Given the description of an element on the screen output the (x, y) to click on. 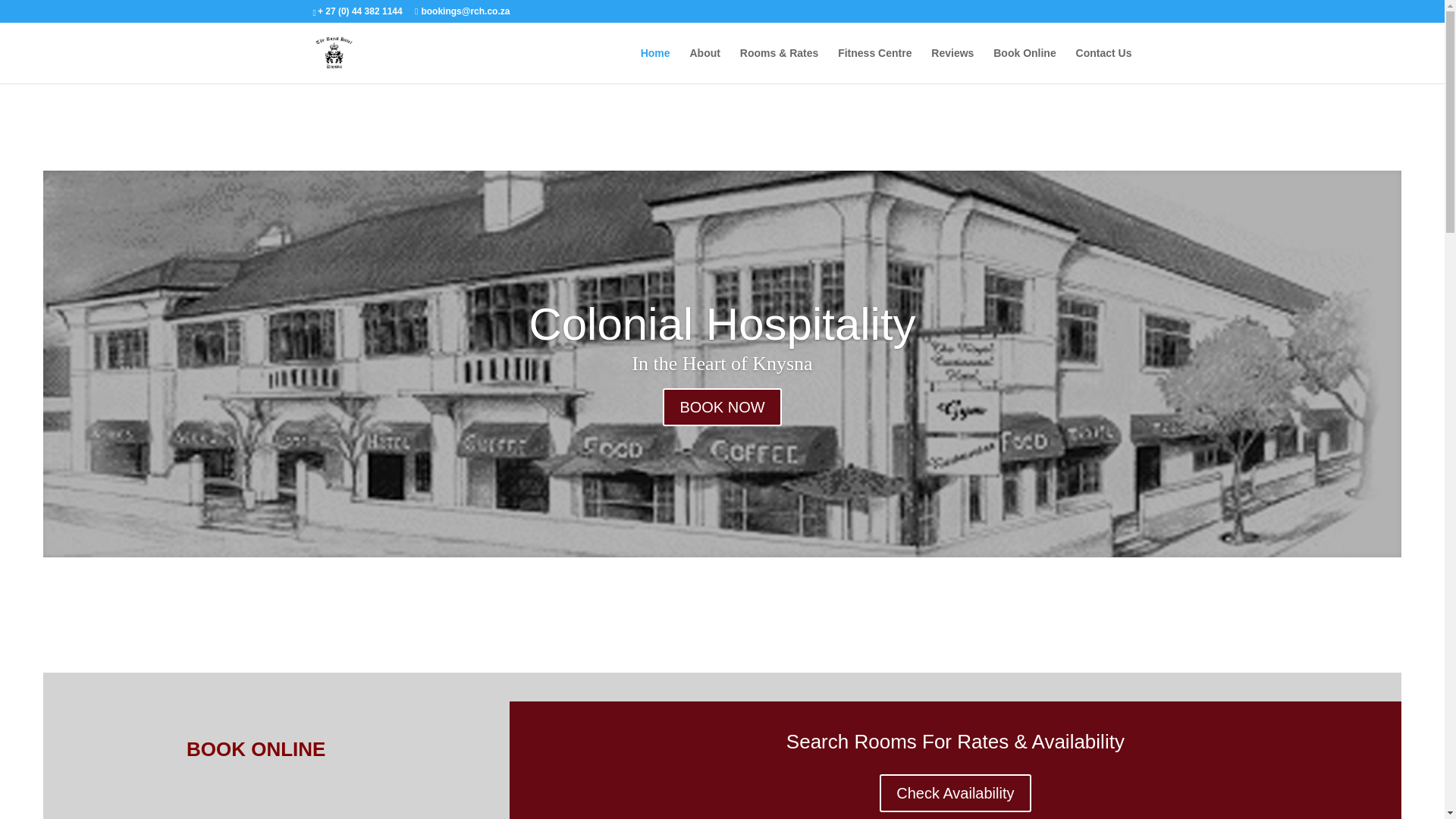
Check Availability (954, 792)
Fitness Centre (874, 65)
Contact Us (1103, 65)
Reviews (952, 65)
Book Online (1023, 65)
